Given the description of an element on the screen output the (x, y) to click on. 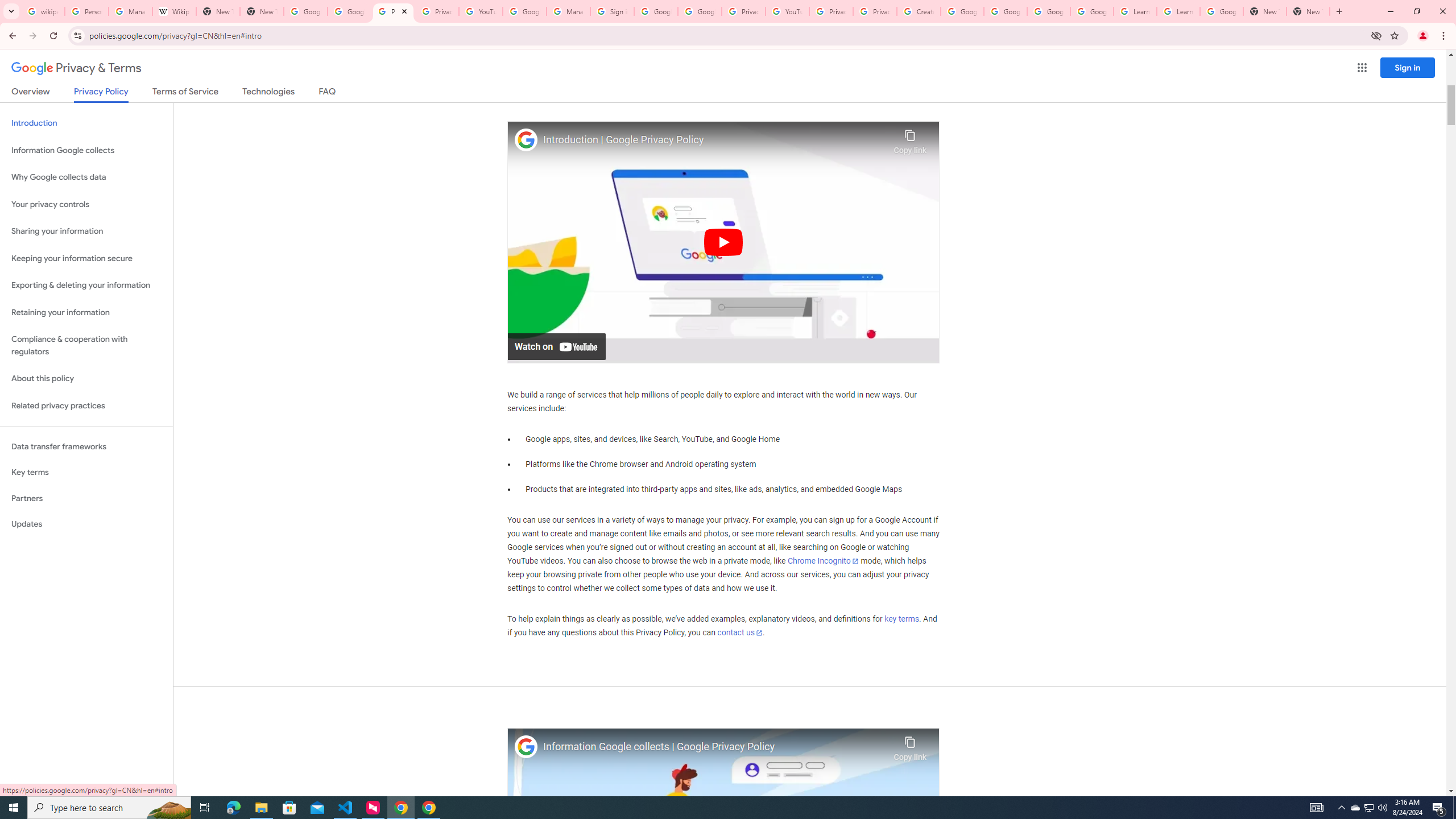
Copy link (909, 745)
Google Account Help (1048, 11)
Information Google collects | Google Privacy Policy (715, 747)
Exporting & deleting your information (86, 284)
Google Account Help (1091, 11)
